Given the description of an element on the screen output the (x, y) to click on. 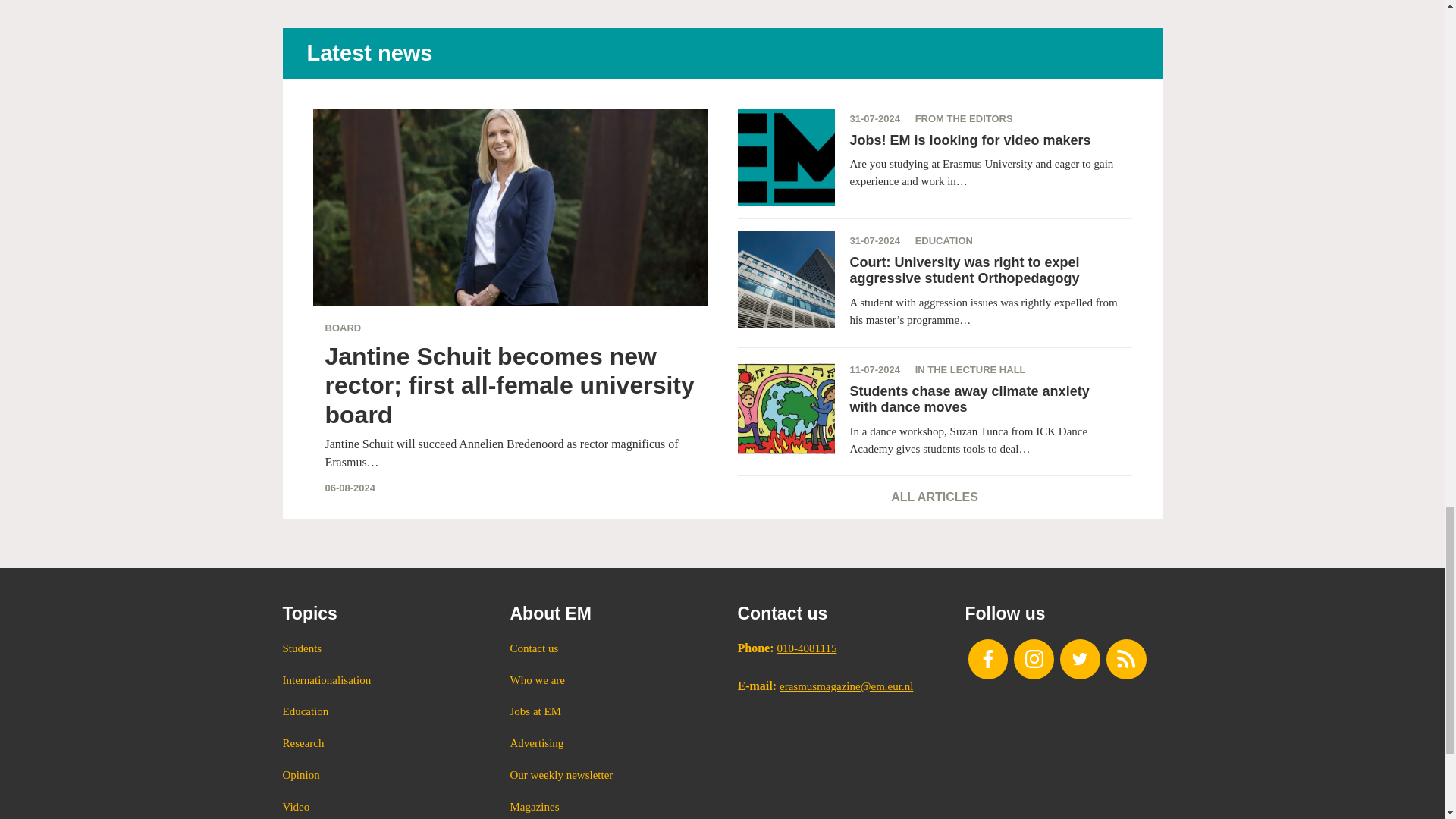
Research (380, 743)
Contact us (607, 648)
Internationalisation (380, 680)
Visit us on Facebook (987, 659)
Who we are (607, 680)
Video (380, 806)
Visit us on Instagram (1033, 659)
Education (380, 711)
Jobs at EM (607, 711)
Advertising (607, 743)
